Given the description of an element on the screen output the (x, y) to click on. 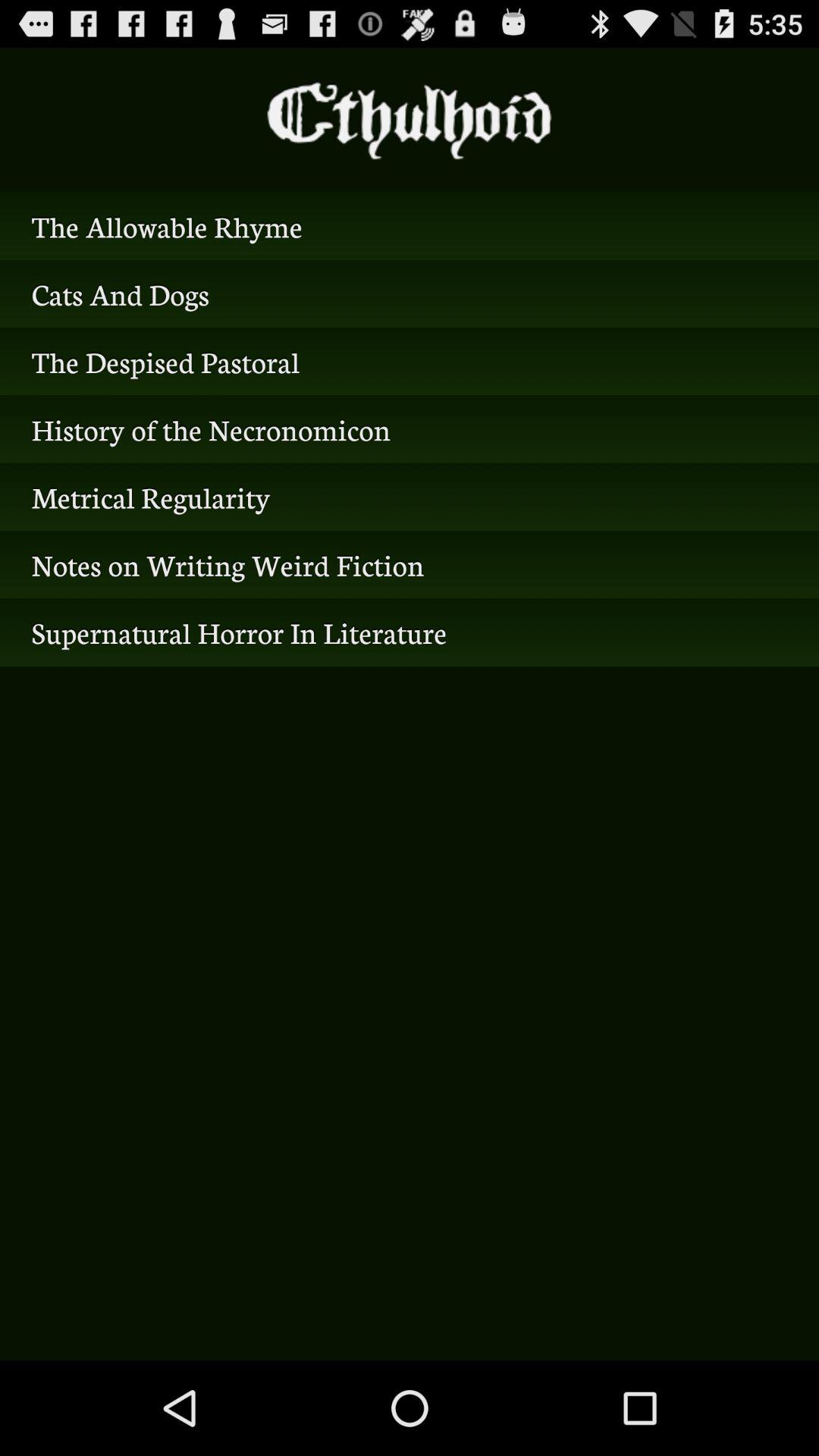
tap item below the despised pastoral (409, 429)
